Given the description of an element on the screen output the (x, y) to click on. 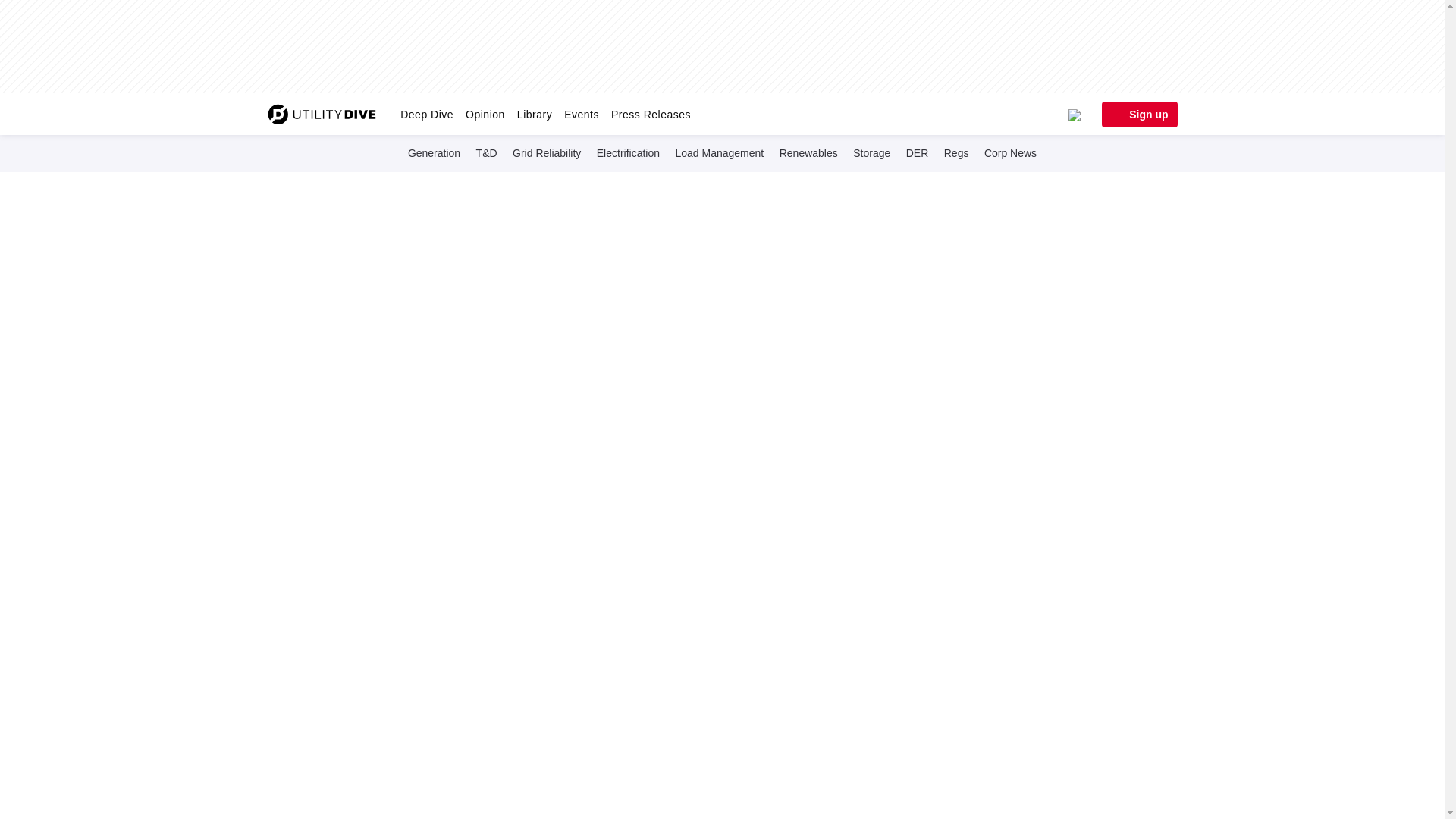
Generation (433, 152)
Load Management (719, 152)
DER (916, 152)
Renewables (808, 152)
Corp News (1010, 152)
Regs (956, 152)
Storage (871, 152)
Opinion (485, 114)
Grid Reliability (546, 152)
Press Releases (651, 114)
Library (534, 114)
Sign up (1138, 114)
Events (581, 114)
Electrification (628, 152)
Deep Dive (427, 114)
